Given the description of an element on the screen output the (x, y) to click on. 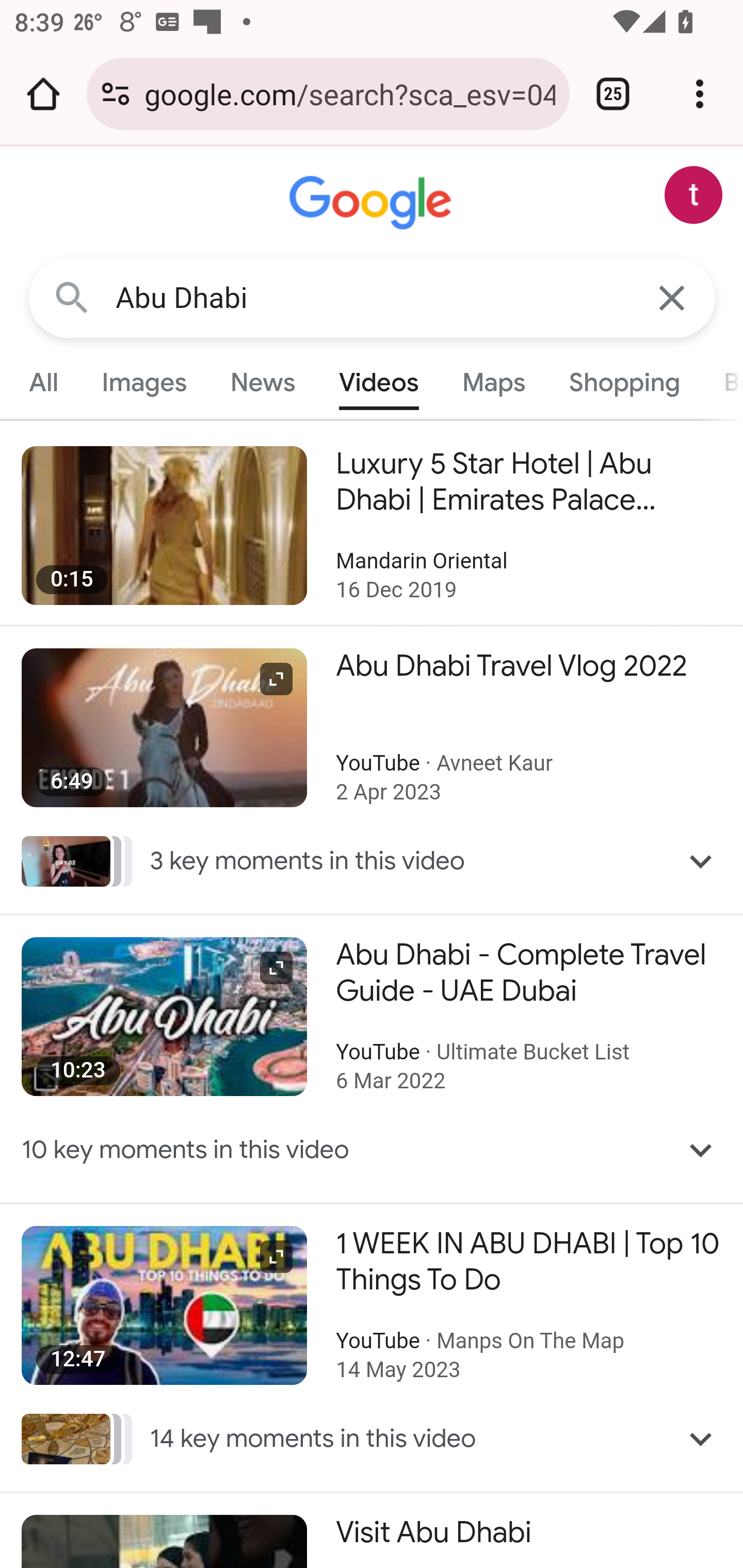
Open the home page (43, 93)
Connection is secure (115, 93)
Switch or close tabs (612, 93)
Customize and control Google Chrome (699, 93)
Google (372, 203)
Google Search (71, 296)
Clear Search (672, 296)
Abu Dhabi (372, 297)
All (43, 382)
Images (144, 382)
News (262, 382)
Maps (493, 382)
Shopping (623, 382)
3 key moments in this video (372, 860)
10 key moments in this video (372, 1149)
14 key moments in this video (372, 1438)
